Given the description of an element on the screen output the (x, y) to click on. 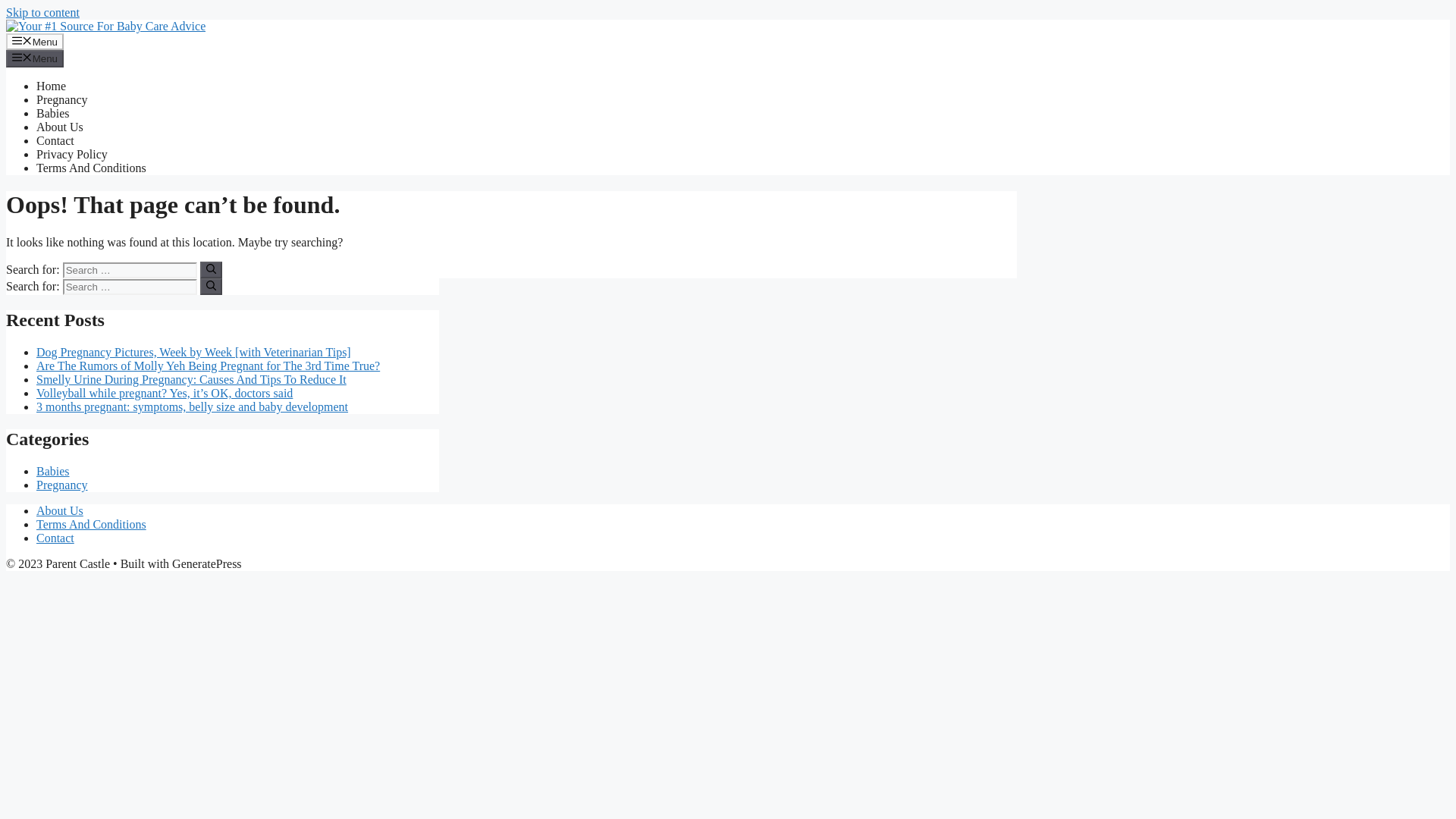
Search for: (129, 270)
Menu (34, 57)
Babies (52, 113)
Home (50, 85)
Skip to content (42, 11)
Smelly Urine During Pregnancy: Causes And Tips To Reduce It (191, 379)
Pregnancy (61, 484)
Contact (55, 537)
Skip to content (42, 11)
